Given the description of an element on the screen output the (x, y) to click on. 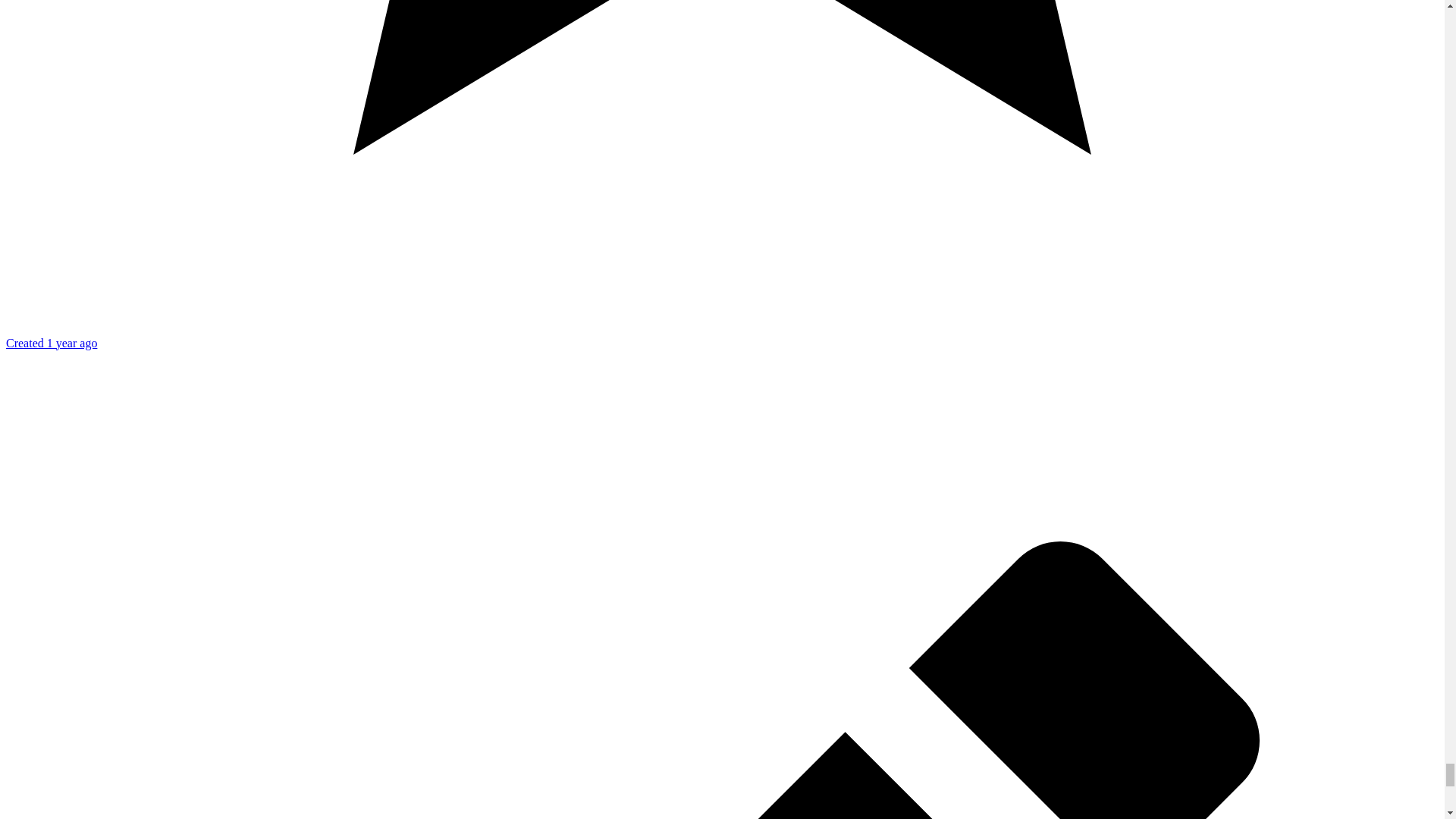
Thu, Apr 20, 2023 2:51 AM (51, 342)
